Given the description of an element on the screen output the (x, y) to click on. 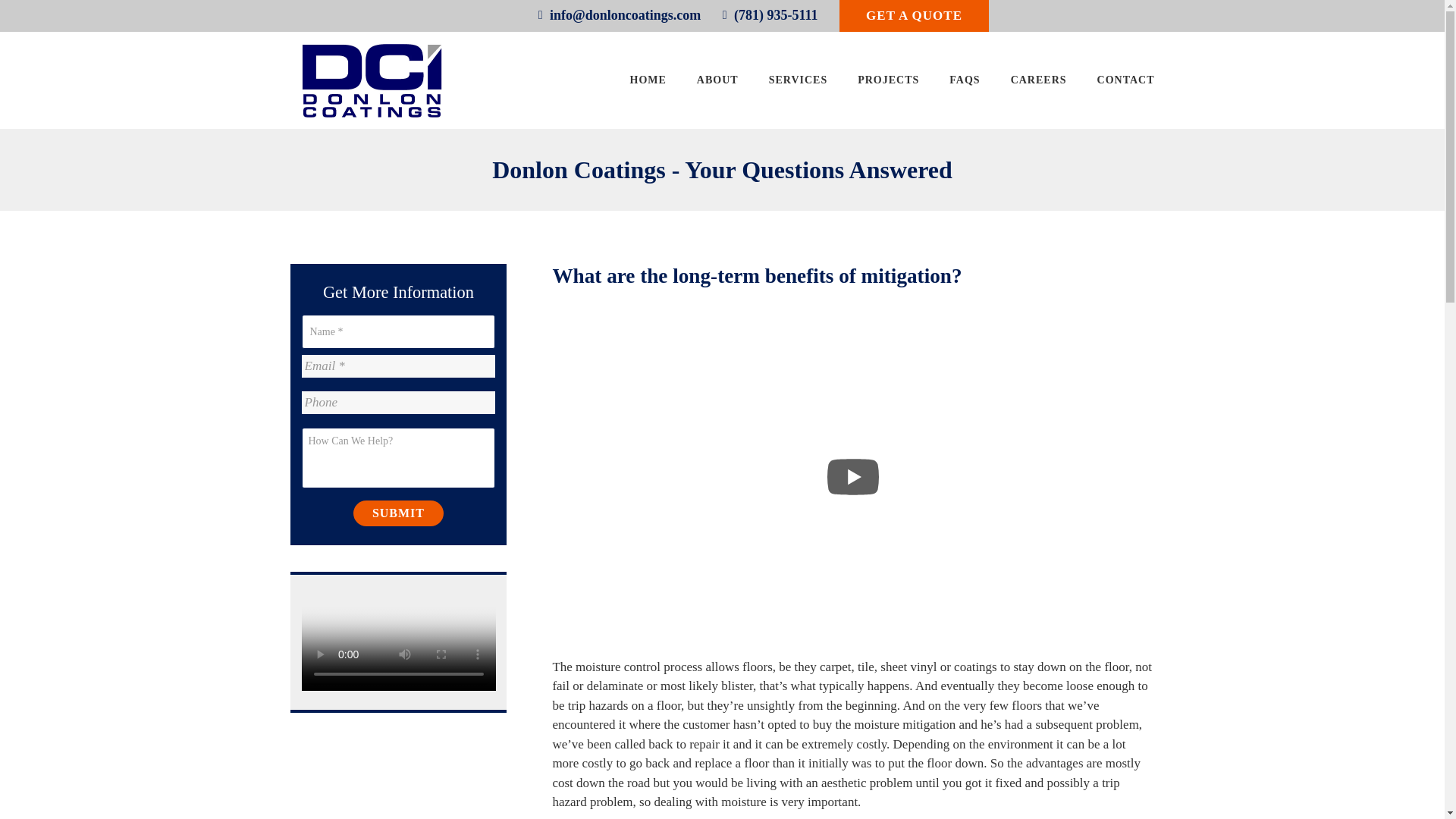
GET A QUOTE (914, 15)
Submit (398, 513)
Submit (398, 513)
